Given the description of an element on the screen output the (x, y) to click on. 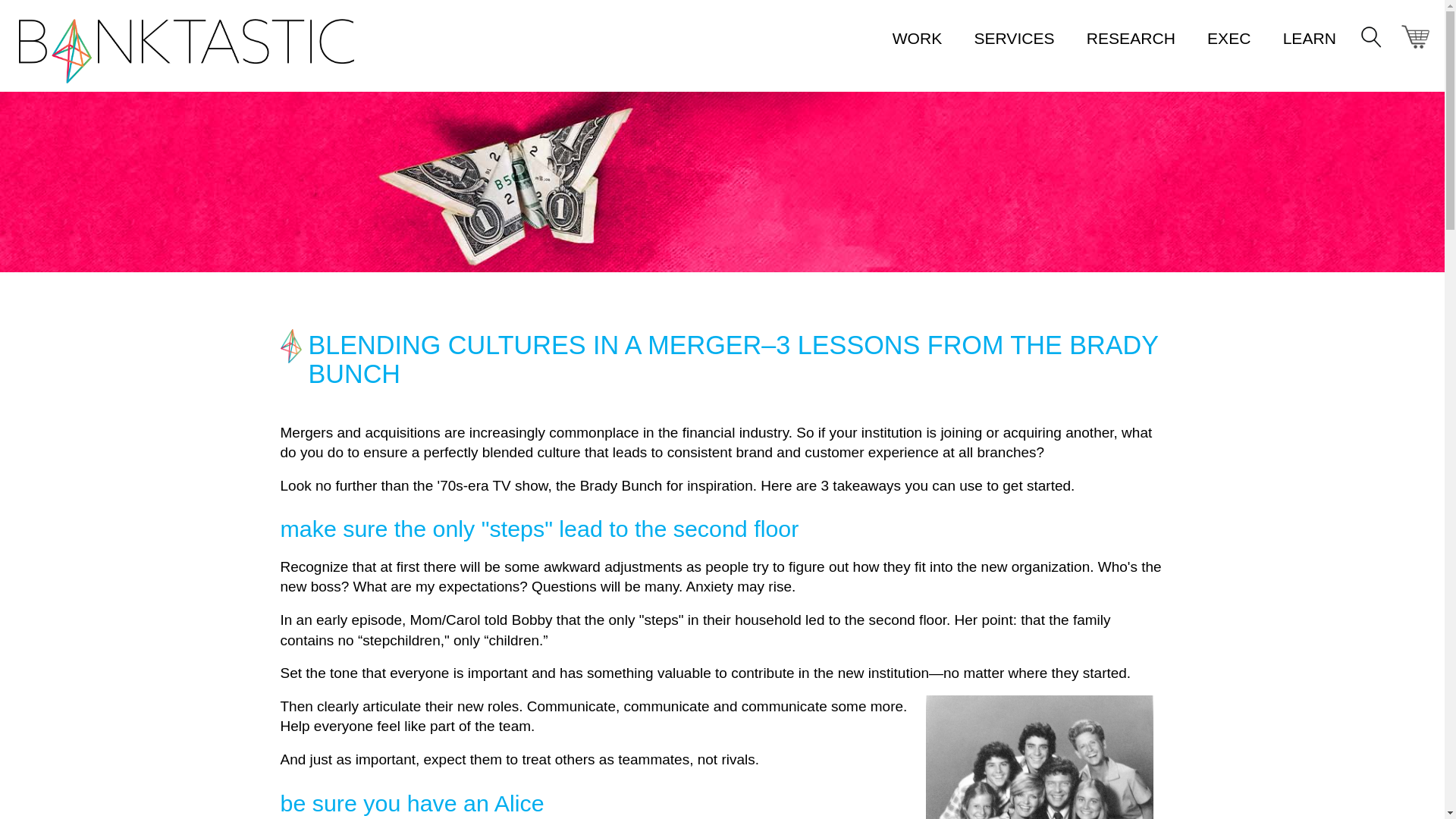
LEARN (1309, 38)
SERVICES (1014, 38)
SEARCH (1369, 34)
WORK (917, 38)
EXEC (1228, 38)
CART (1414, 36)
RESEARCH (1130, 38)
